Given the description of an element on the screen output the (x, y) to click on. 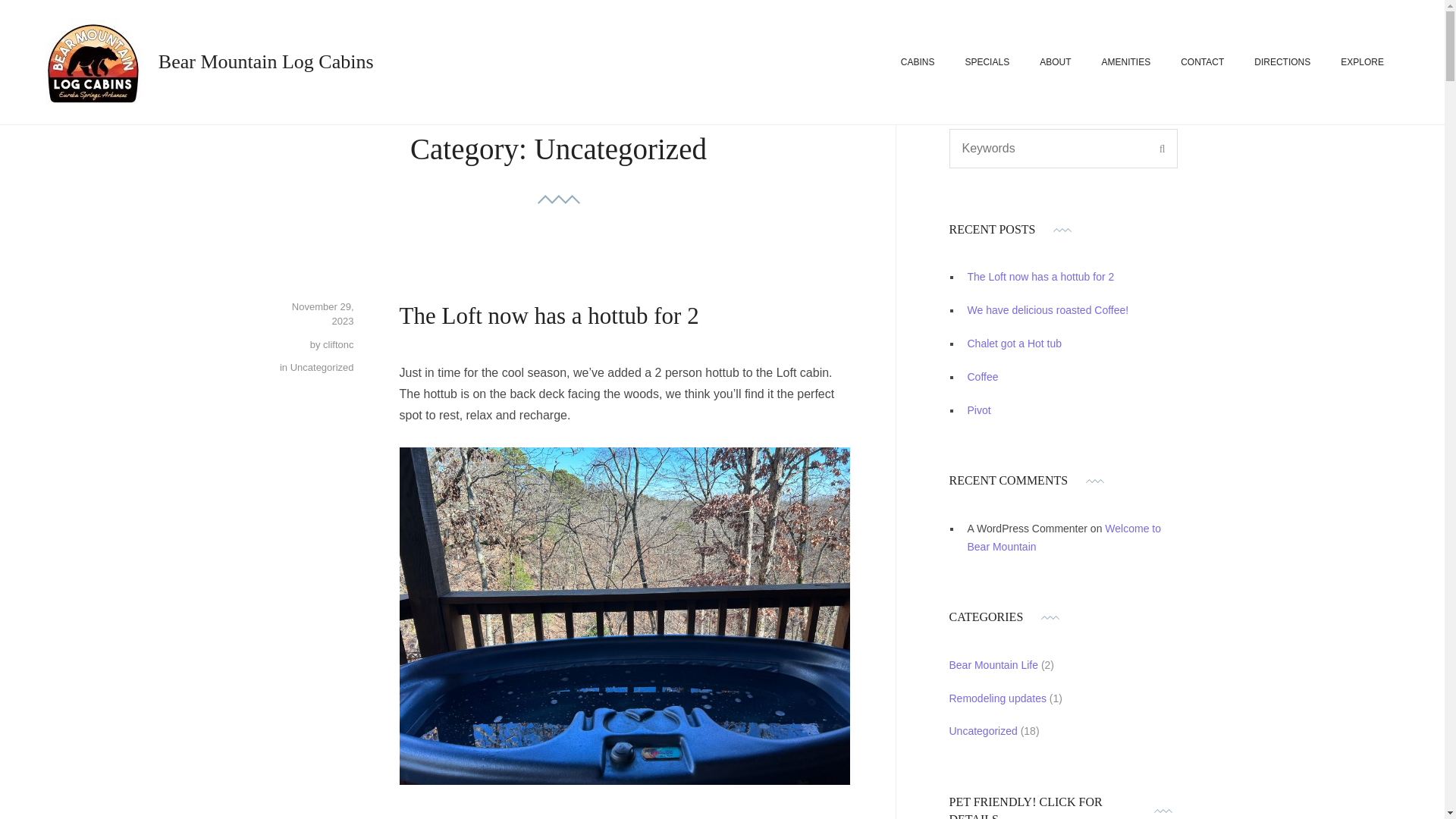
EXPLORE (1362, 61)
SPECIALS (986, 61)
ABOUT (1054, 61)
AMENITIES (1125, 61)
cliftonc (338, 344)
CABINS (917, 61)
The Loft now has a hottub for 2 (548, 315)
Bear Mountain Log Cabins (266, 61)
DIRECTIONS (1281, 61)
Uncategorized (321, 367)
CONTACT (1202, 61)
November 29, 2023 (322, 314)
